Given the description of an element on the screen output the (x, y) to click on. 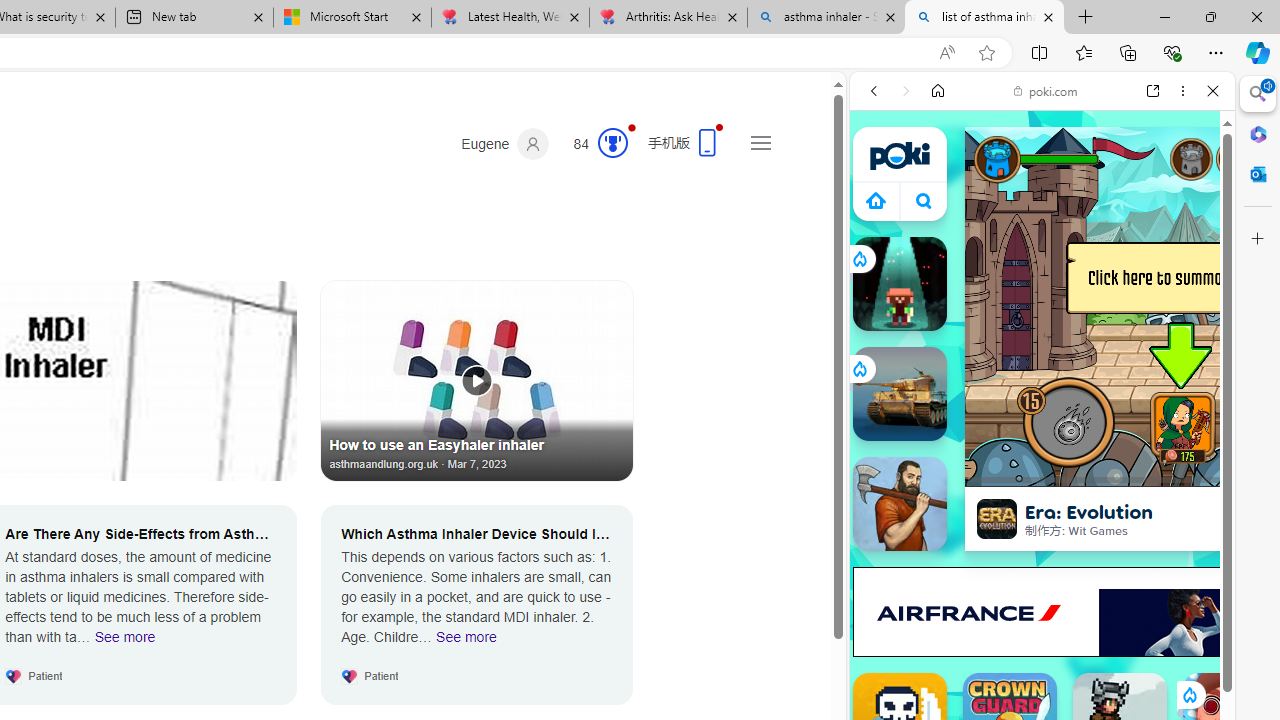
Castle Woodwarf (899, 503)
Sports Games (1042, 666)
Quivershot Quivershot (899, 283)
Quivershot (899, 283)
Class: hvLtMSipvVng82x9Seuh (997, 519)
Car Games (1042, 469)
WEB   (882, 228)
Sports Games (1042, 665)
